Given the description of an element on the screen output the (x, y) to click on. 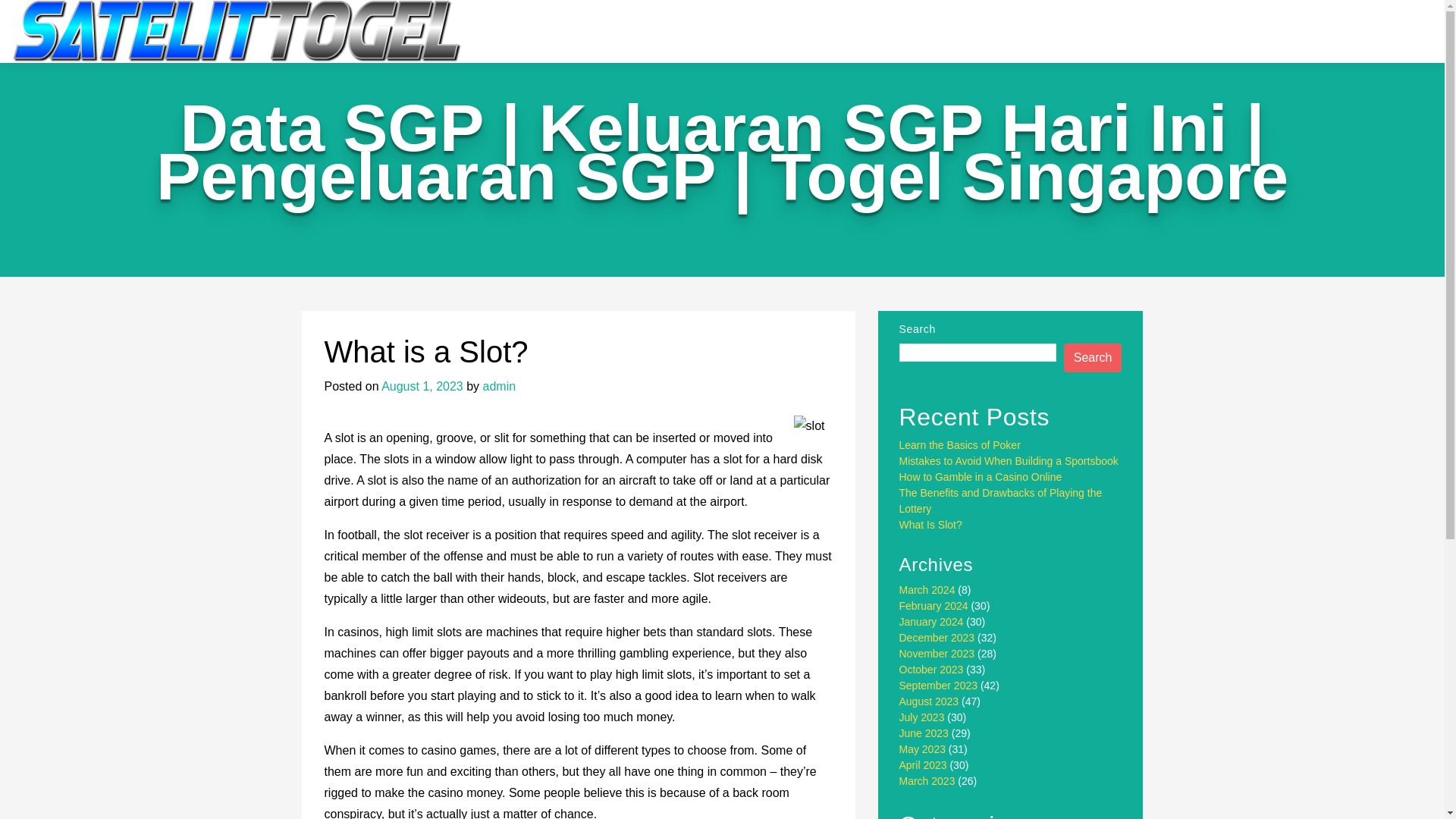
What Is Slot? (930, 524)
May 2023 (921, 748)
December 2023 (937, 637)
The Benefits and Drawbacks of Playing the Lottery (1000, 500)
August 1, 2023 (422, 386)
August 2023 (929, 701)
July 2023 (921, 717)
September 2023 (938, 685)
Learn the Basics of Poker (959, 444)
October 2023 (931, 669)
